Given the description of an element on the screen output the (x, y) to click on. 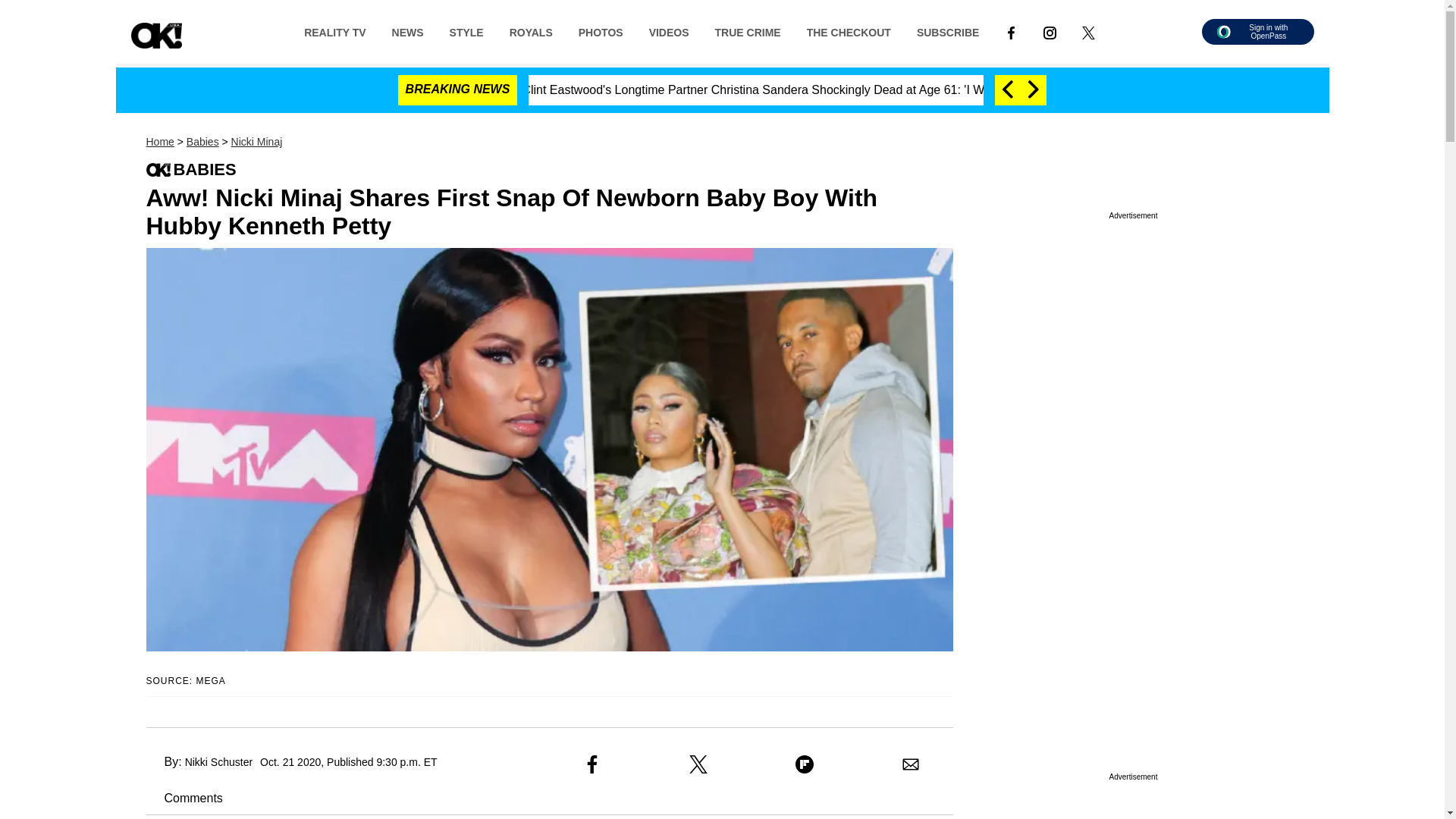
LINK TO X (1087, 32)
Babies (202, 141)
VIDEOS (668, 31)
Share to Flipboard (803, 764)
LINK TO X (1088, 31)
Nicki Minaj (256, 141)
THE CHECKOUT (848, 31)
Share to Email (909, 764)
LINK TO INSTAGRAM (1049, 31)
STYLE (466, 31)
NEWS (407, 31)
LINK TO FACEBOOK (1010, 32)
LINK TO FACEBOOK (1010, 31)
ROYALS (531, 31)
